Given the description of an element on the screen output the (x, y) to click on. 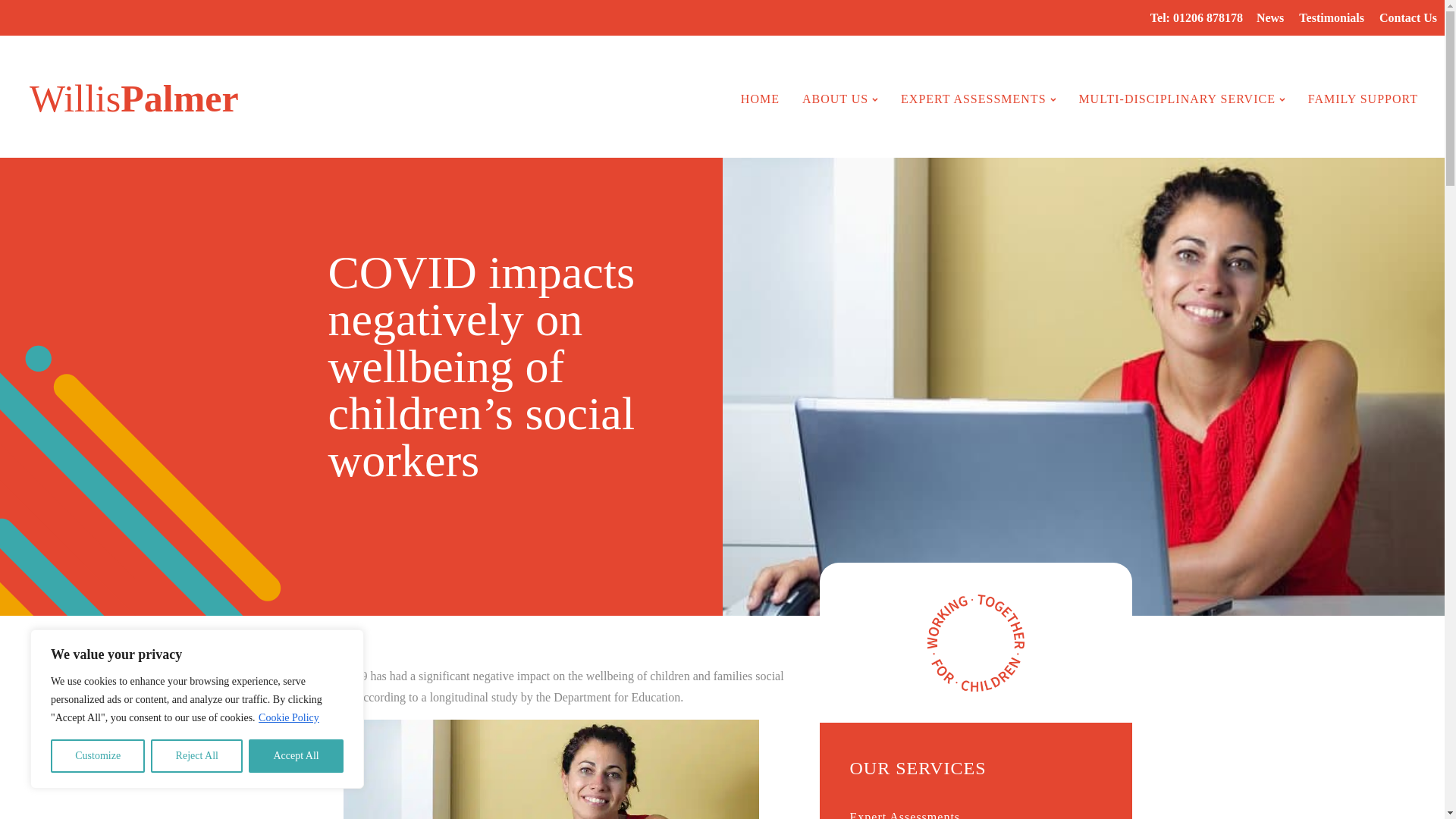
News (126, 98)
Cookie Policy (1270, 18)
EXPERT ASSESSMENTS (288, 717)
01206 878178 (978, 98)
Customize (1208, 17)
MULTI-DISCIPLINARY SERVICE (97, 756)
ABOUT US (1181, 98)
Reject All (839, 98)
HOME (197, 756)
Testimonials (759, 98)
Accept All (1331, 18)
